Given the description of an element on the screen output the (x, y) to click on. 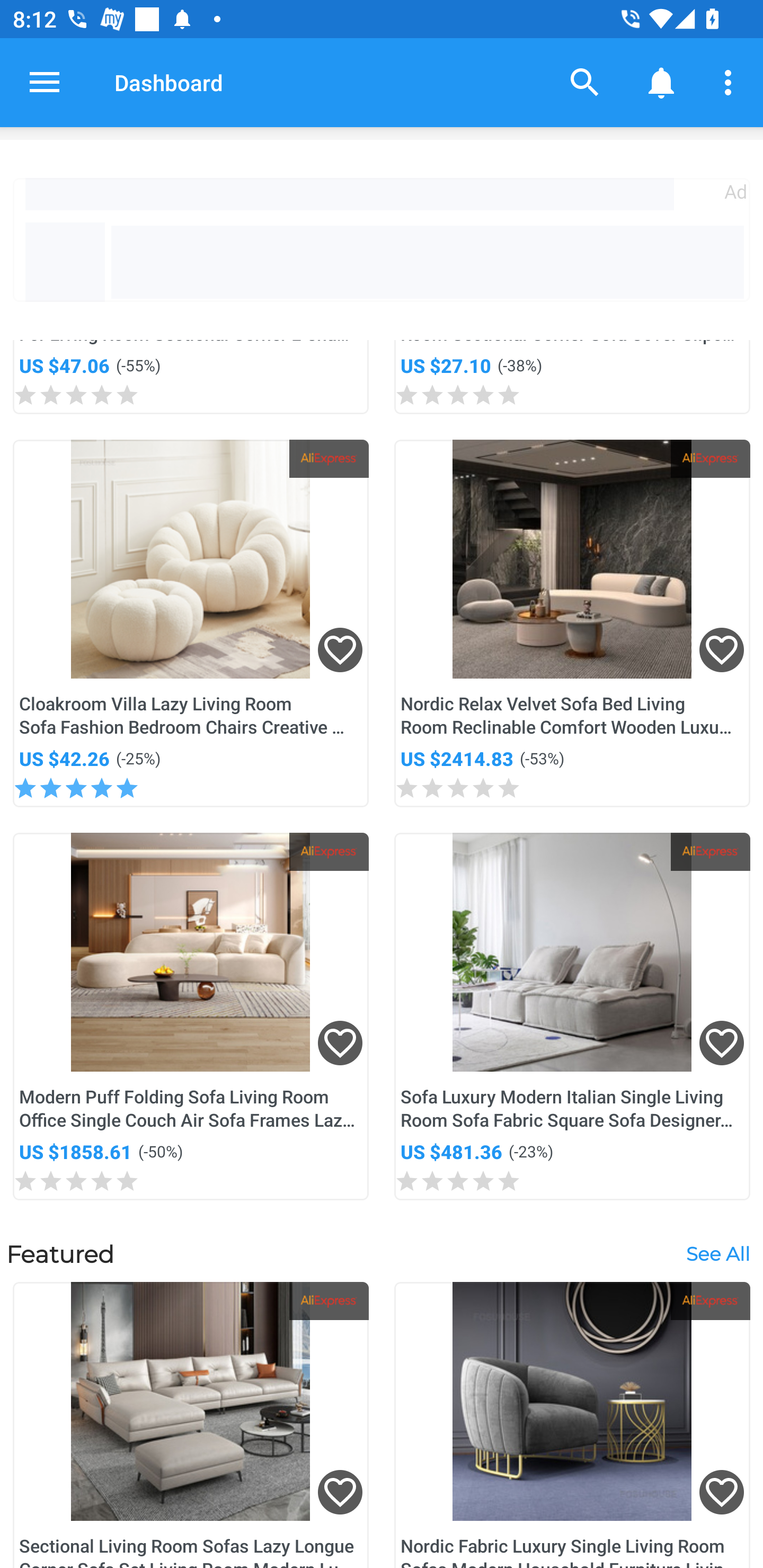
Open navigation drawer (44, 82)
Search (585, 81)
More options (731, 81)
See All (717, 1253)
